Given the description of an element on the screen output the (x, y) to click on. 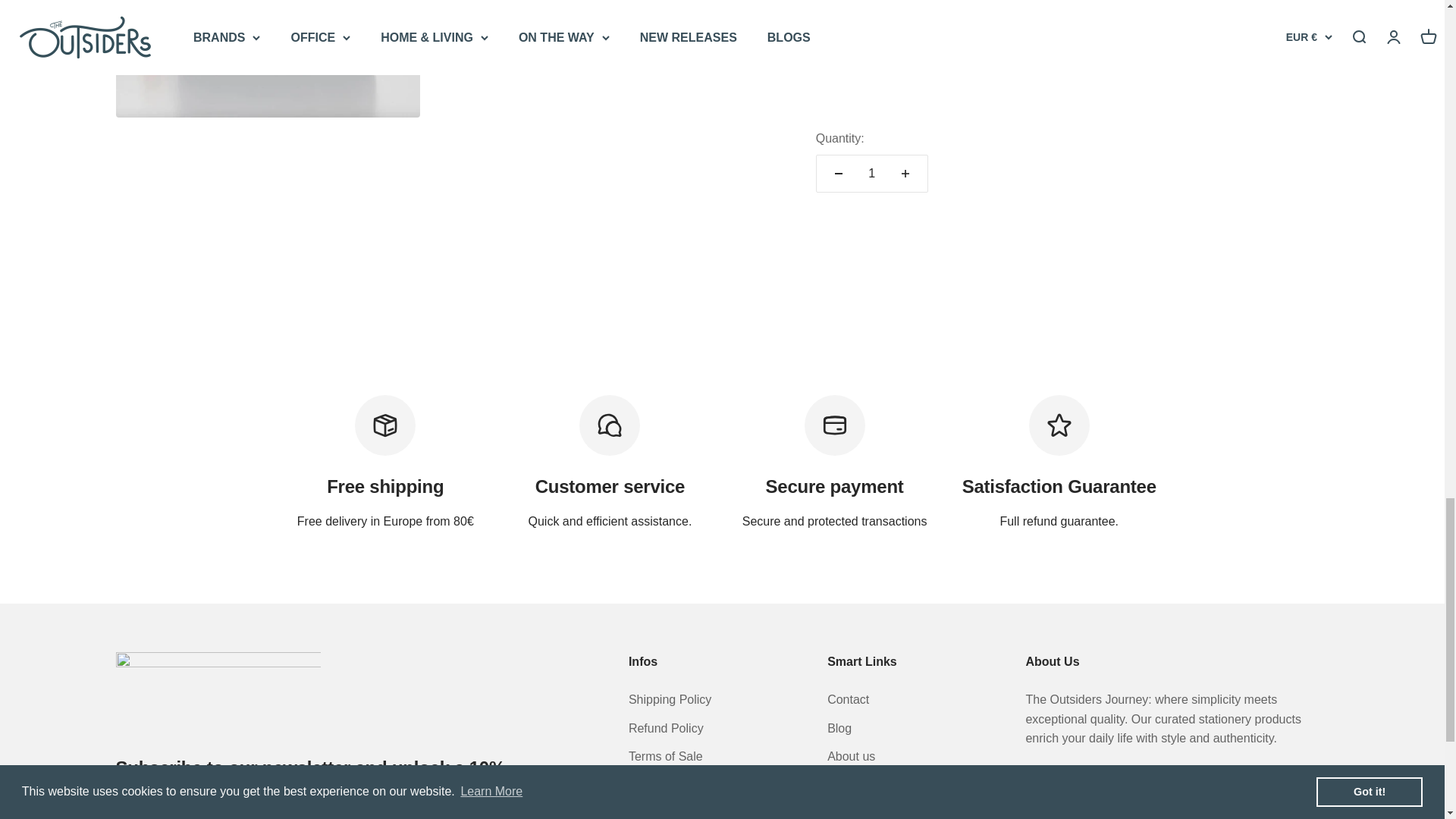
YouTube video player (1027, 55)
